Given the description of an element on the screen output the (x, y) to click on. 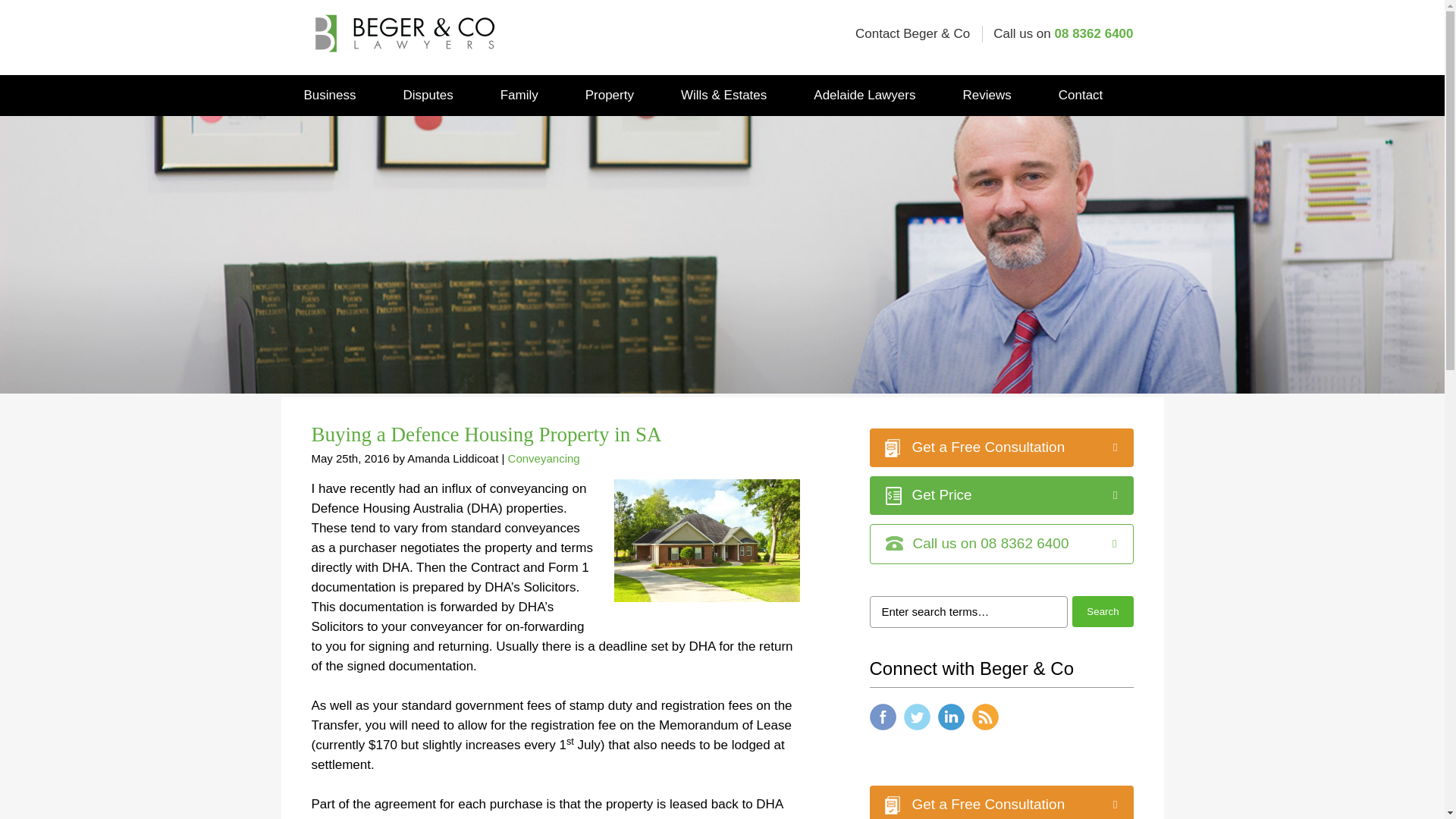
Family (519, 95)
Disputes (427, 95)
Business (329, 95)
08 8362 6400 (1093, 33)
Adelaide Lawyers and Conveyancers (402, 23)
Property (609, 95)
